Given the description of an element on the screen output the (x, y) to click on. 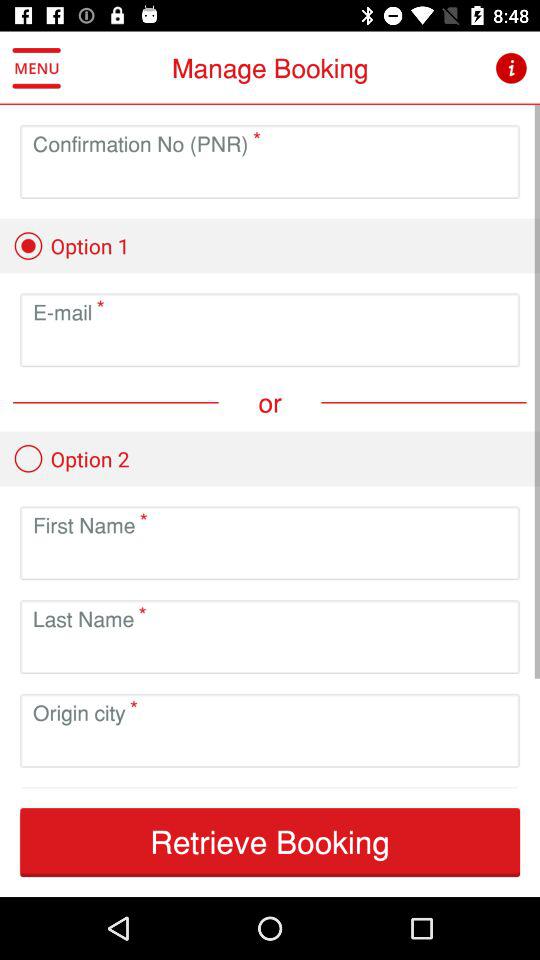
launch the icon at the top right corner (510, 67)
